Given the description of an element on the screen output the (x, y) to click on. 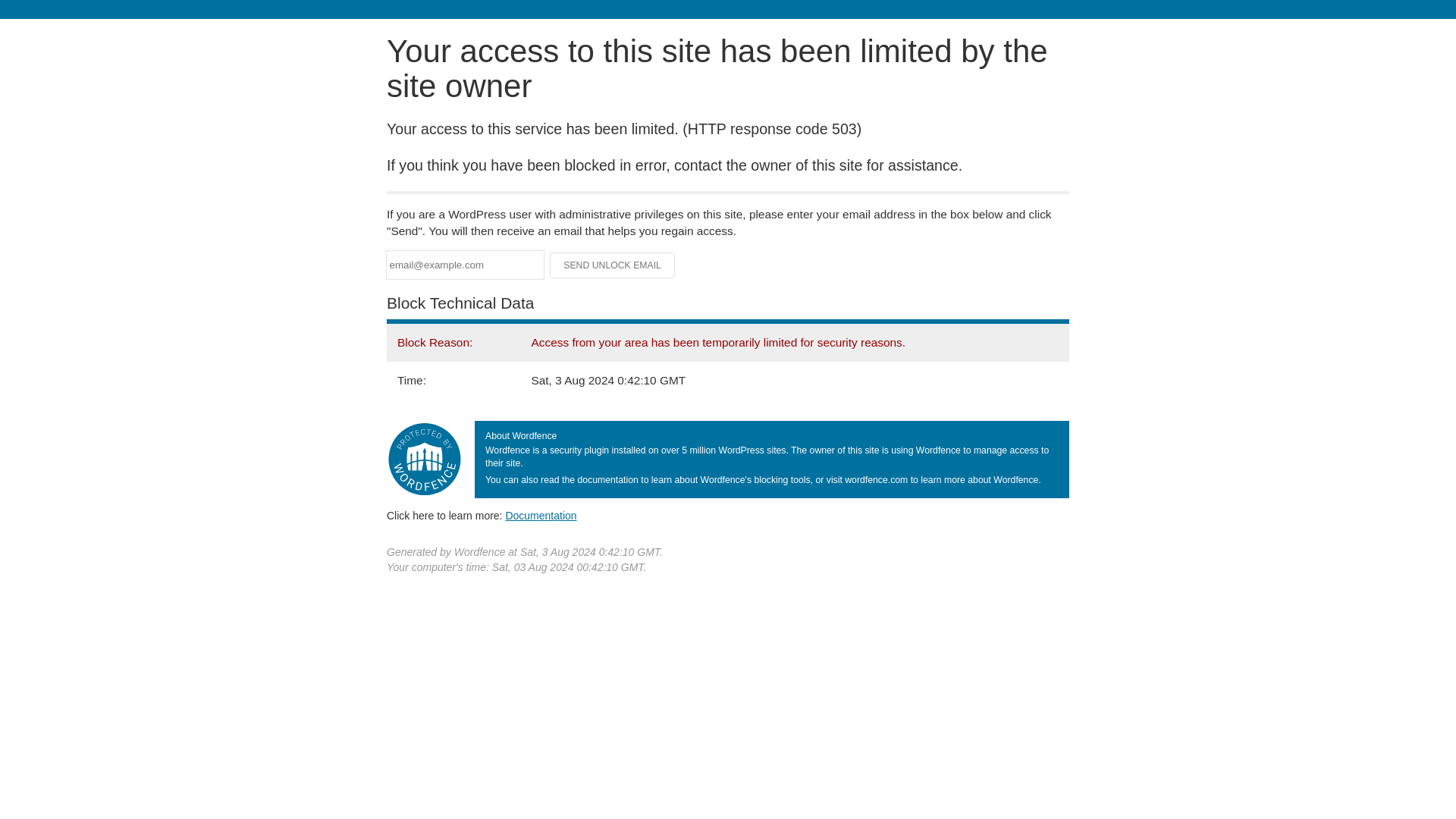
Send Unlock Email (612, 265)
Documentation (540, 515)
Send Unlock Email (612, 265)
